Given the description of an element on the screen output the (x, y) to click on. 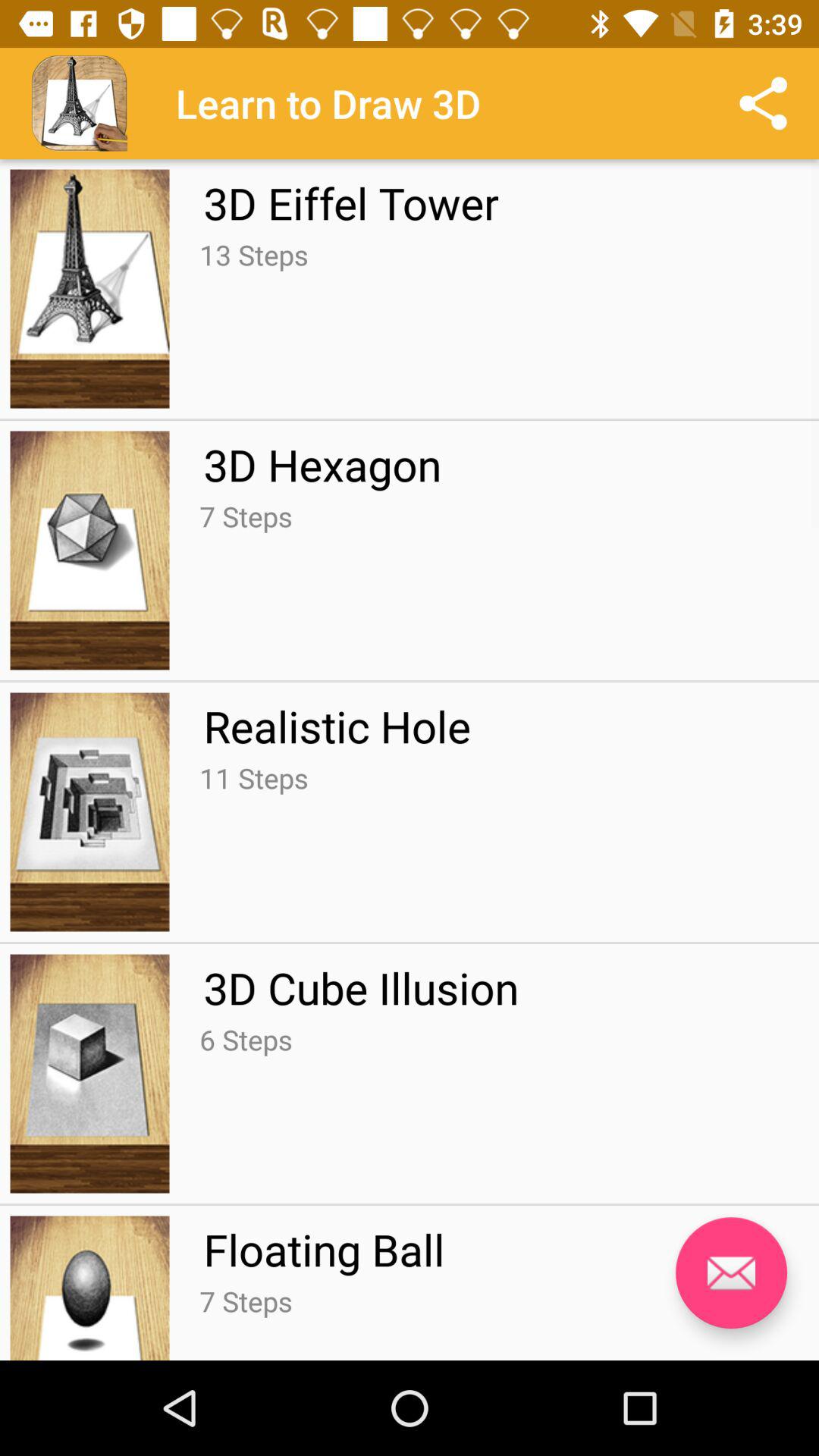
compose email (731, 1272)
